Given the description of an element on the screen output the (x, y) to click on. 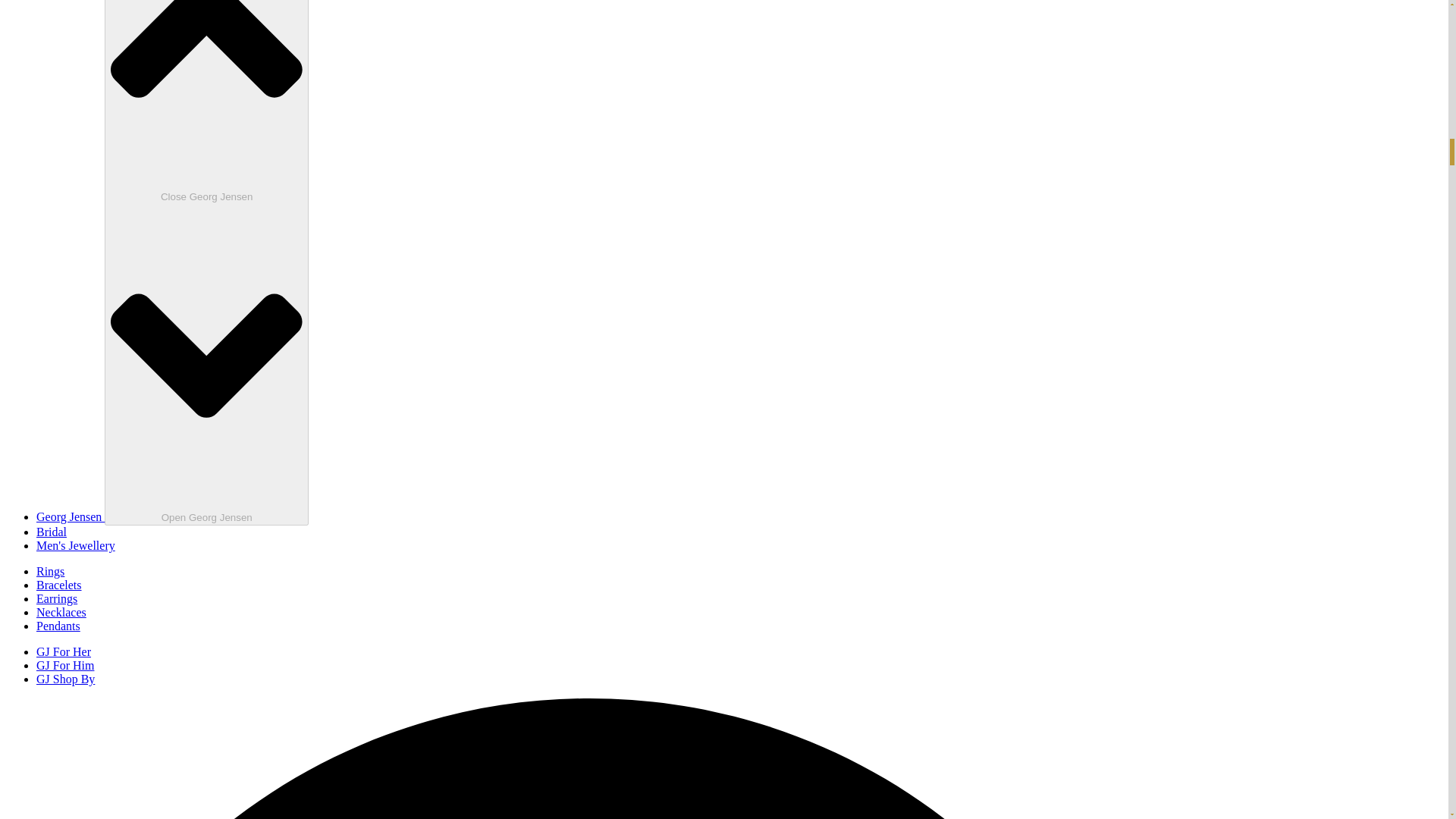
Georg Jensen (70, 516)
Men's Jewellery (75, 545)
Bracelets (58, 584)
Bridal (51, 531)
Necklaces (60, 612)
GJ For Her (63, 651)
GJ Shop By (65, 678)
Pendants (58, 625)
Earrings (56, 598)
GJ For Him (65, 665)
Rings (50, 571)
